Given the description of an element on the screen output the (x, y) to click on. 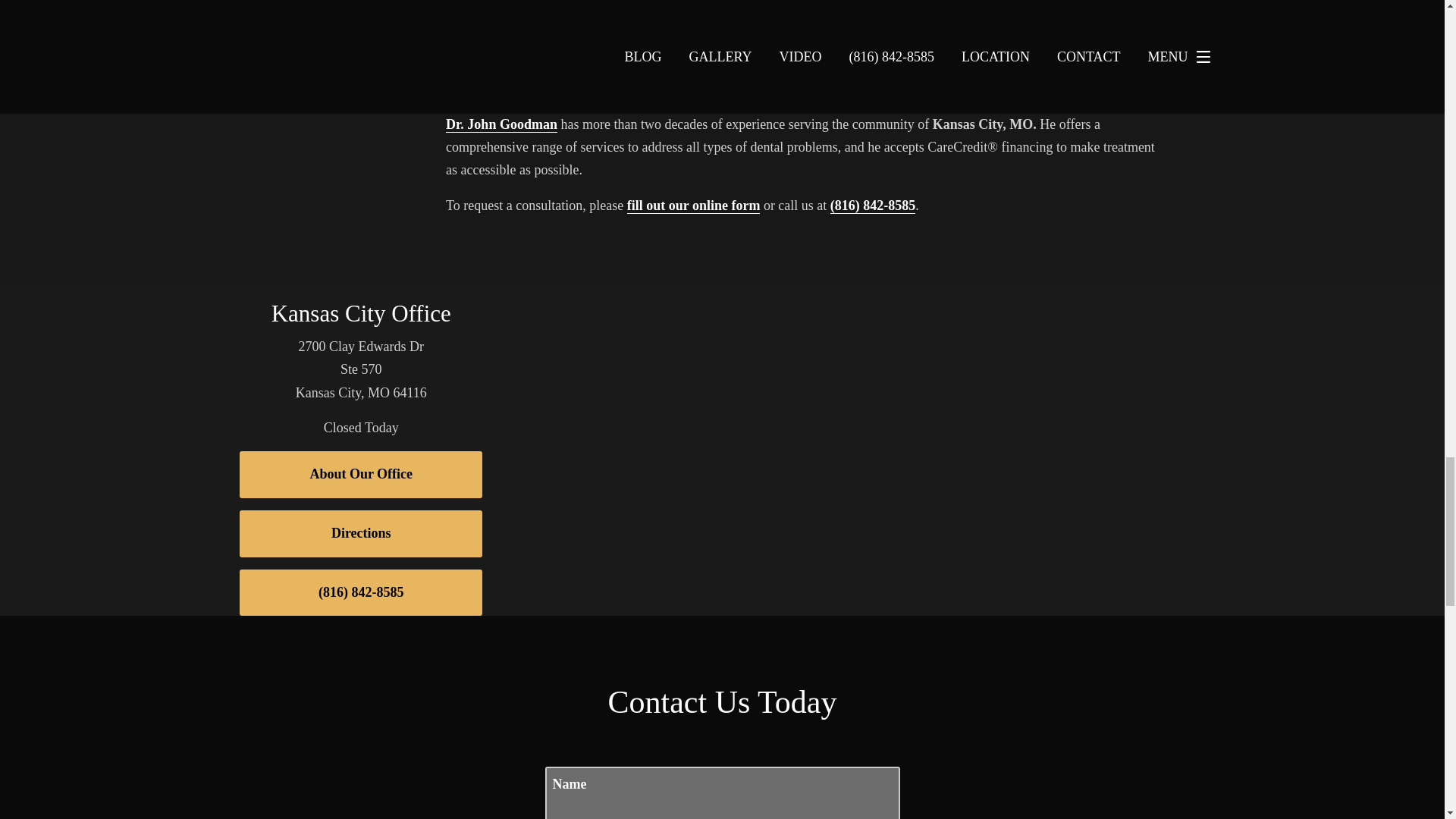
Locations (1022, 295)
fill out our online form (693, 205)
Directions (360, 533)
About Our Office (360, 474)
Kansas City Office (360, 313)
Dr. John Goodman (501, 124)
